Given the description of an element on the screen output the (x, y) to click on. 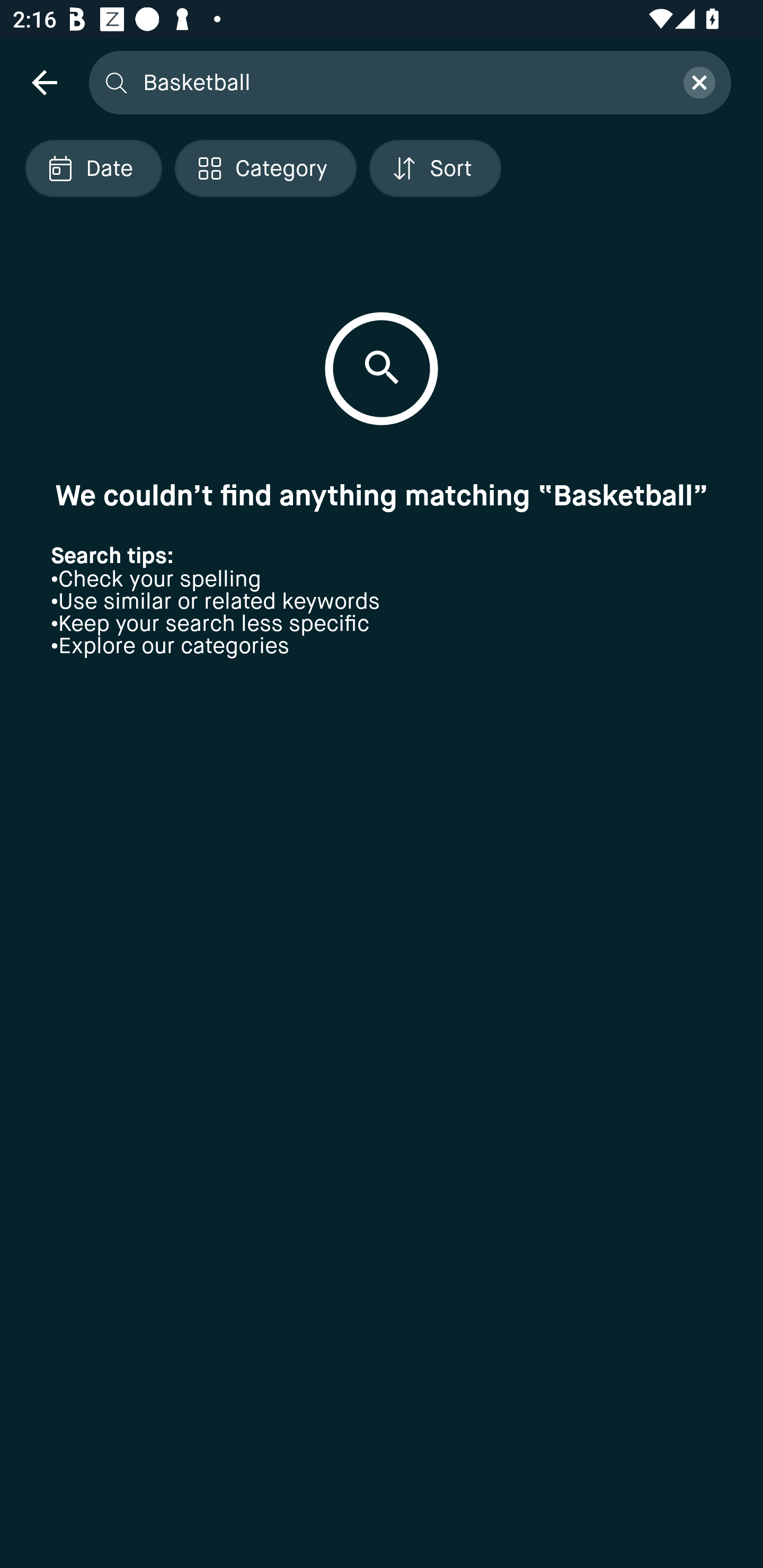
navigation icon (44, 81)
Basketball (402, 81)
Localized description Date (93, 168)
Localized description Category (265, 168)
Localized description Sort (435, 168)
We couldn’t find anything matching “Basketball” (381, 495)
